Given the description of an element on the screen output the (x, y) to click on. 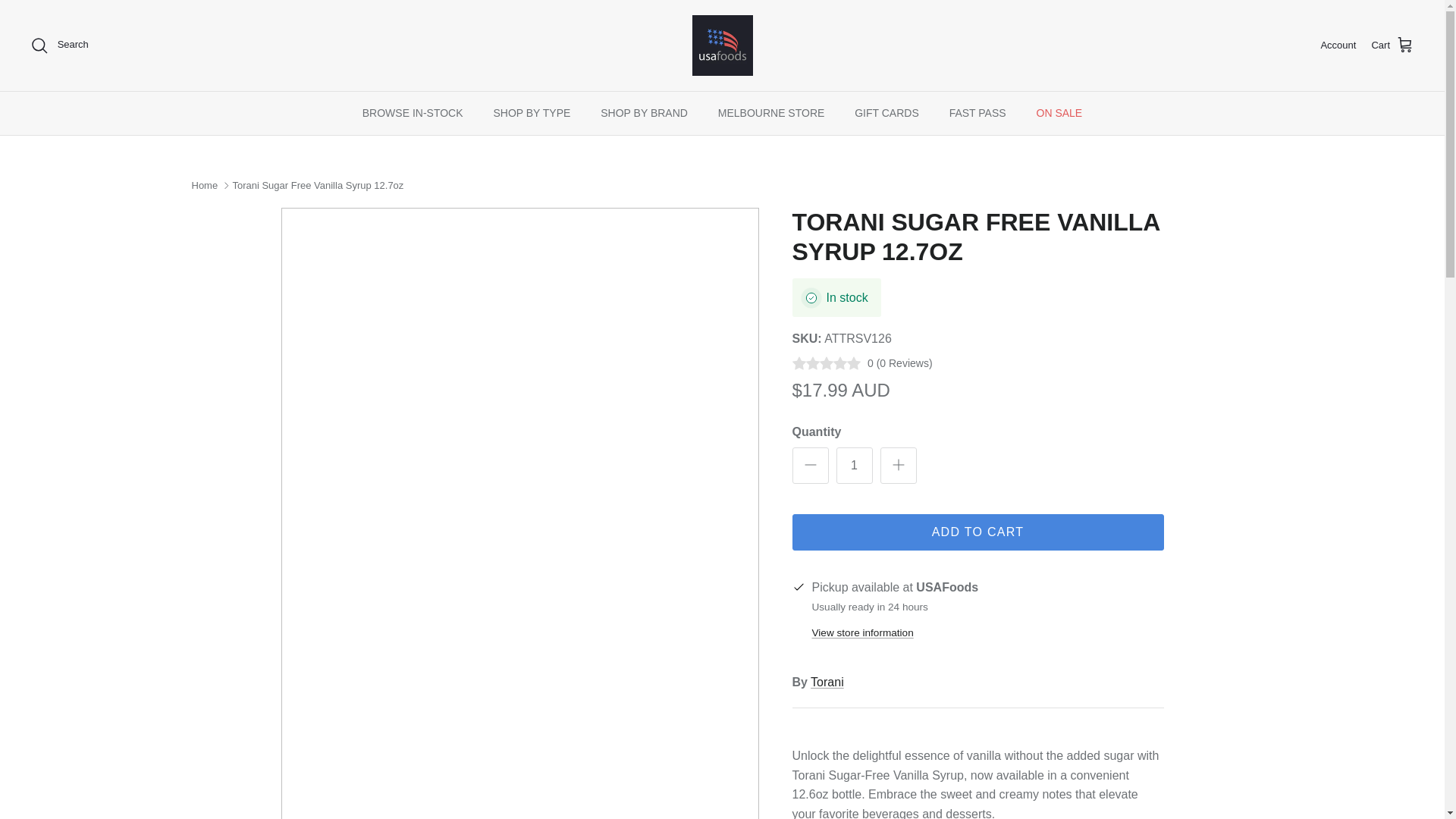
1 (853, 465)
Minus (809, 464)
SHOP BY TYPE (531, 113)
Account (1337, 45)
Plus (897, 464)
BROWSE IN-STOCK (413, 113)
USAFoods (721, 45)
Search (59, 45)
Cart (1392, 45)
